Given the description of an element on the screen output the (x, y) to click on. 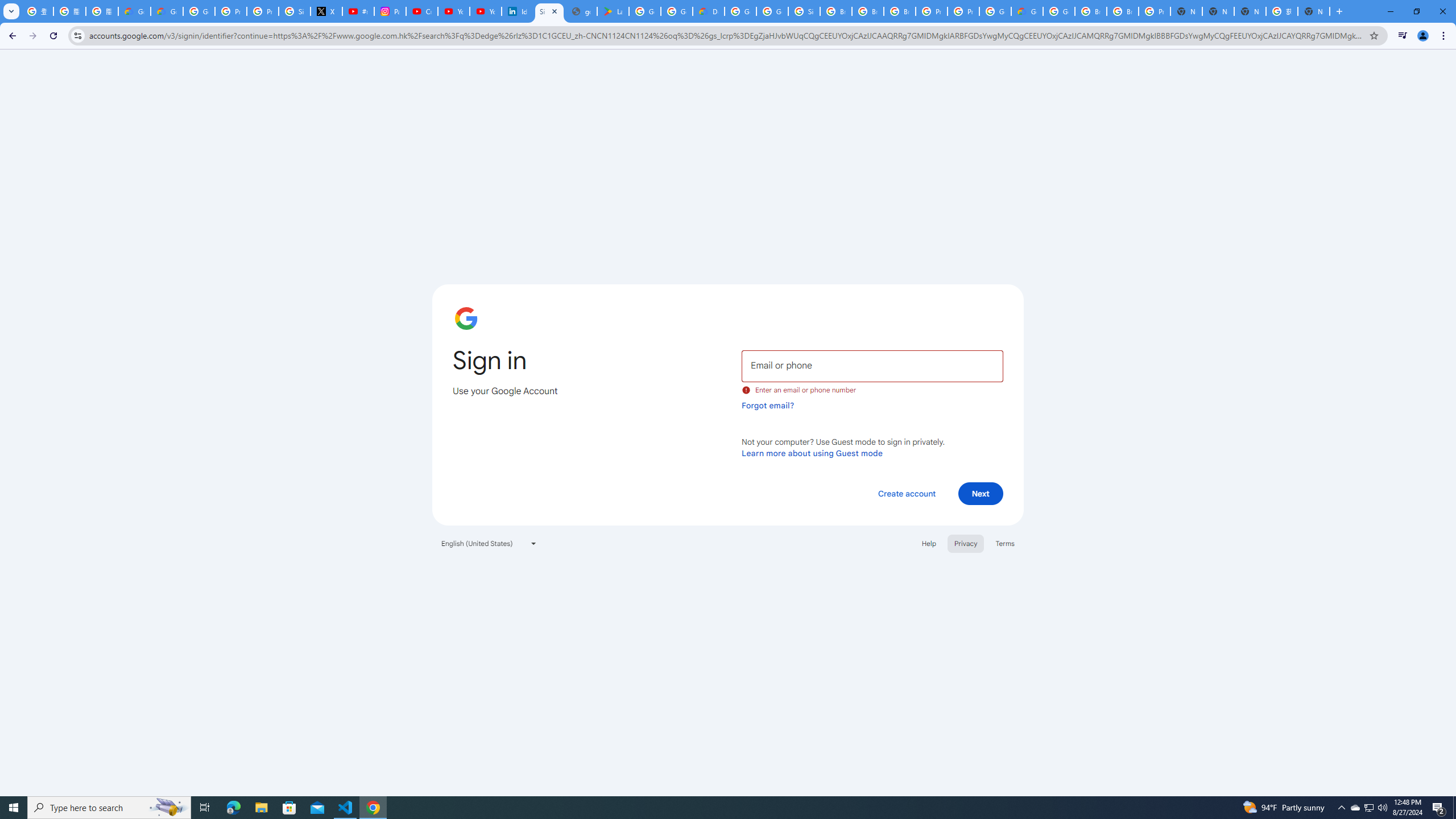
Google Workspace - Specific Terms (676, 11)
Privacy Help Center - Policies Help (262, 11)
